Given the description of an element on the screen output the (x, y) to click on. 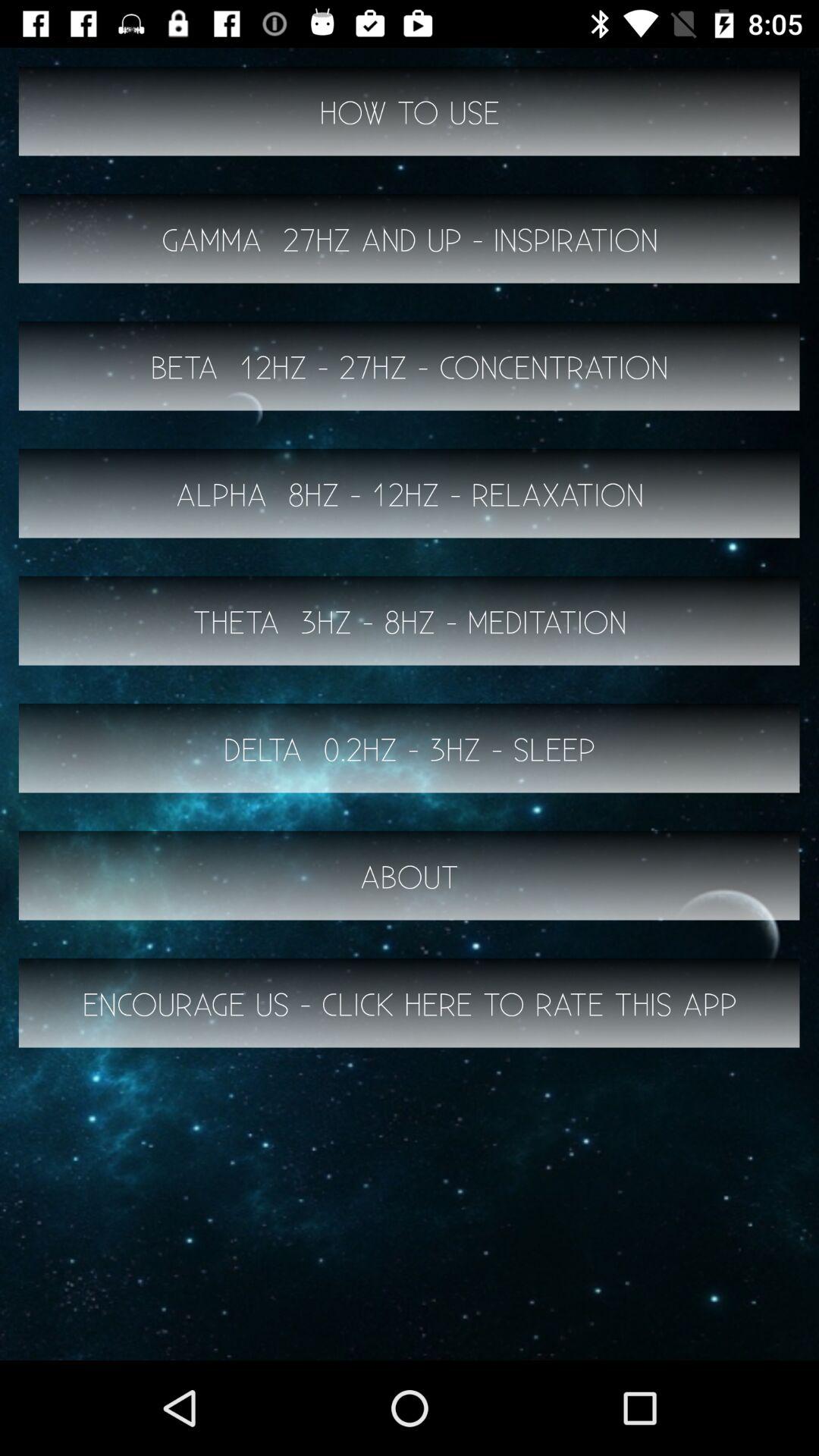
turn off button below the how to use item (409, 238)
